Given the description of an element on the screen output the (x, y) to click on. 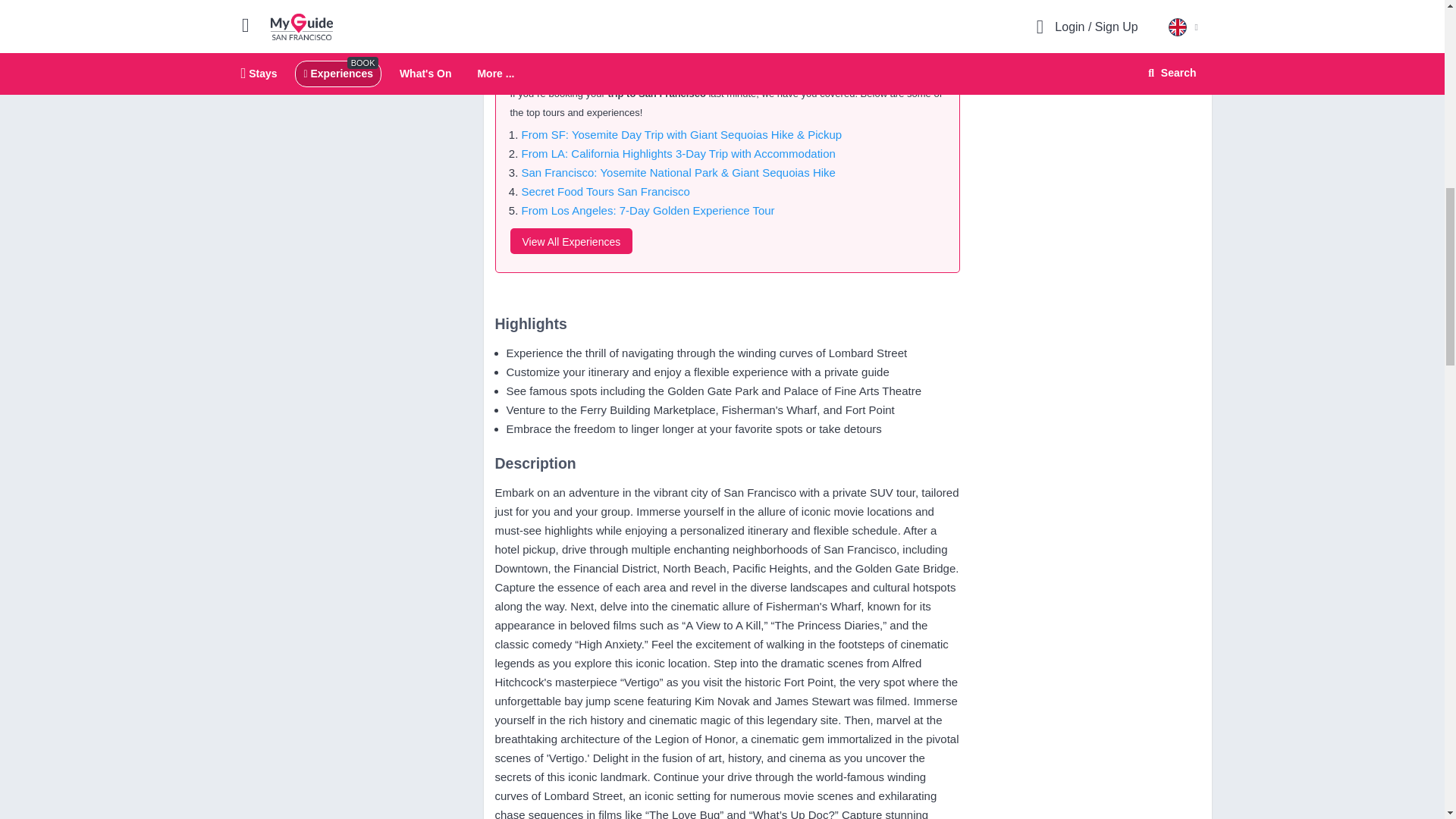
GetYourGuide Widget (1087, 21)
View All Experiences (570, 240)
